Given the description of an element on the screen output the (x, y) to click on. 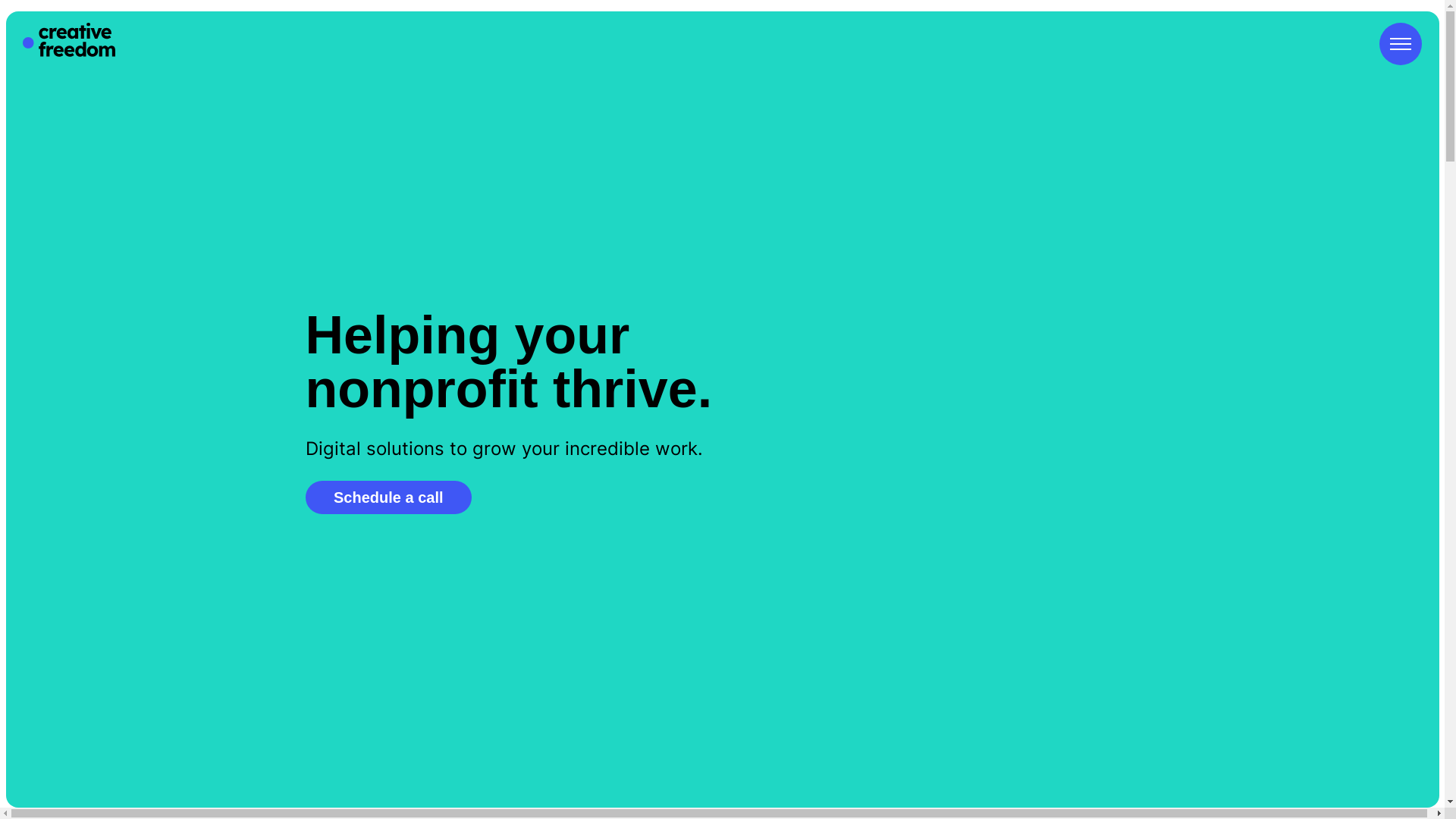
Schedule a call Element type: text (387, 497)
